Given the description of an element on the screen output the (x, y) to click on. 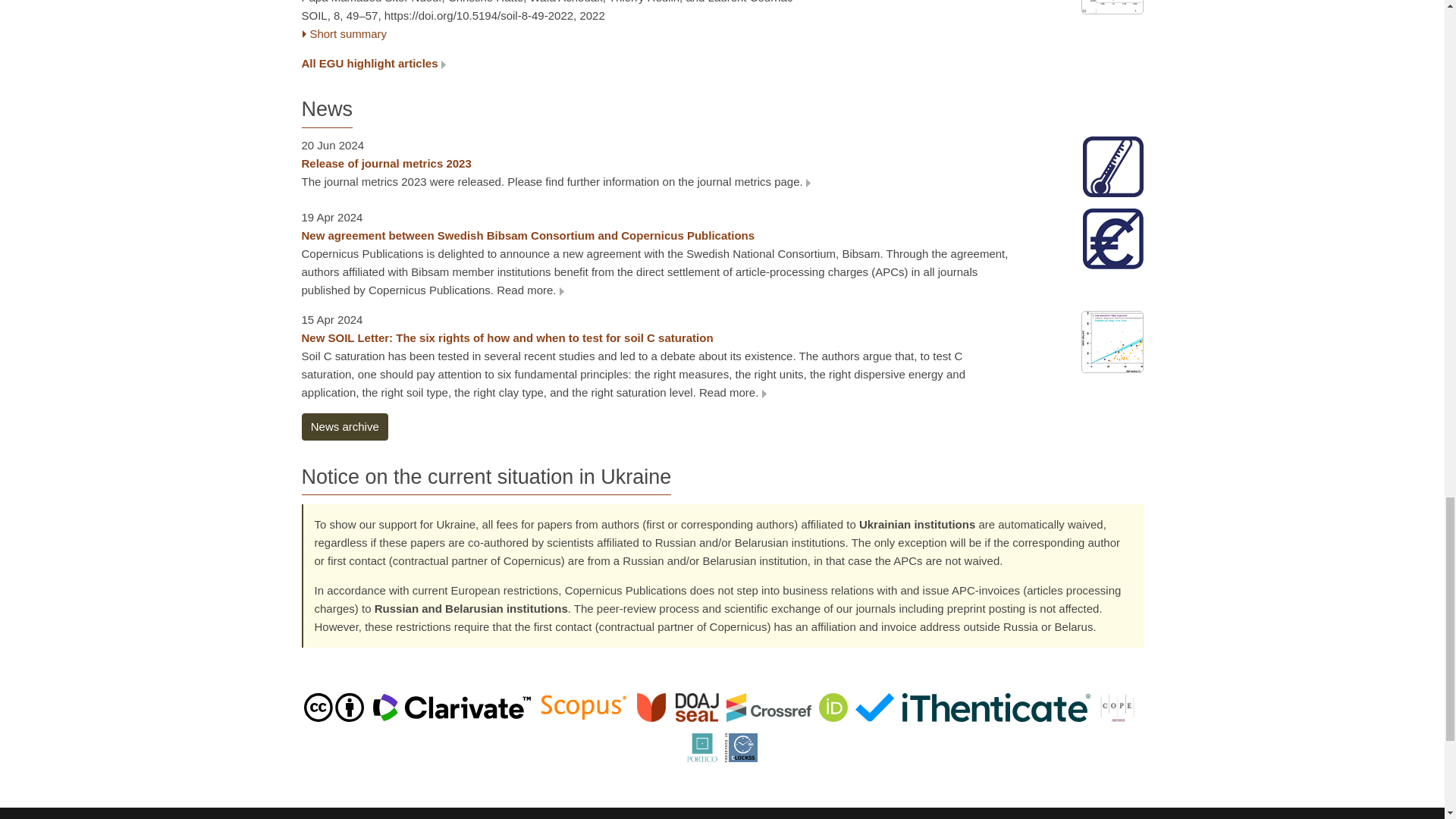
CrossRef (768, 706)
Clarivate Analytics (451, 706)
ORCID (832, 706)
Scopus (583, 706)
CC BY 4.0 (334, 706)
DOAJ Seal (678, 706)
